Given the description of an element on the screen output the (x, y) to click on. 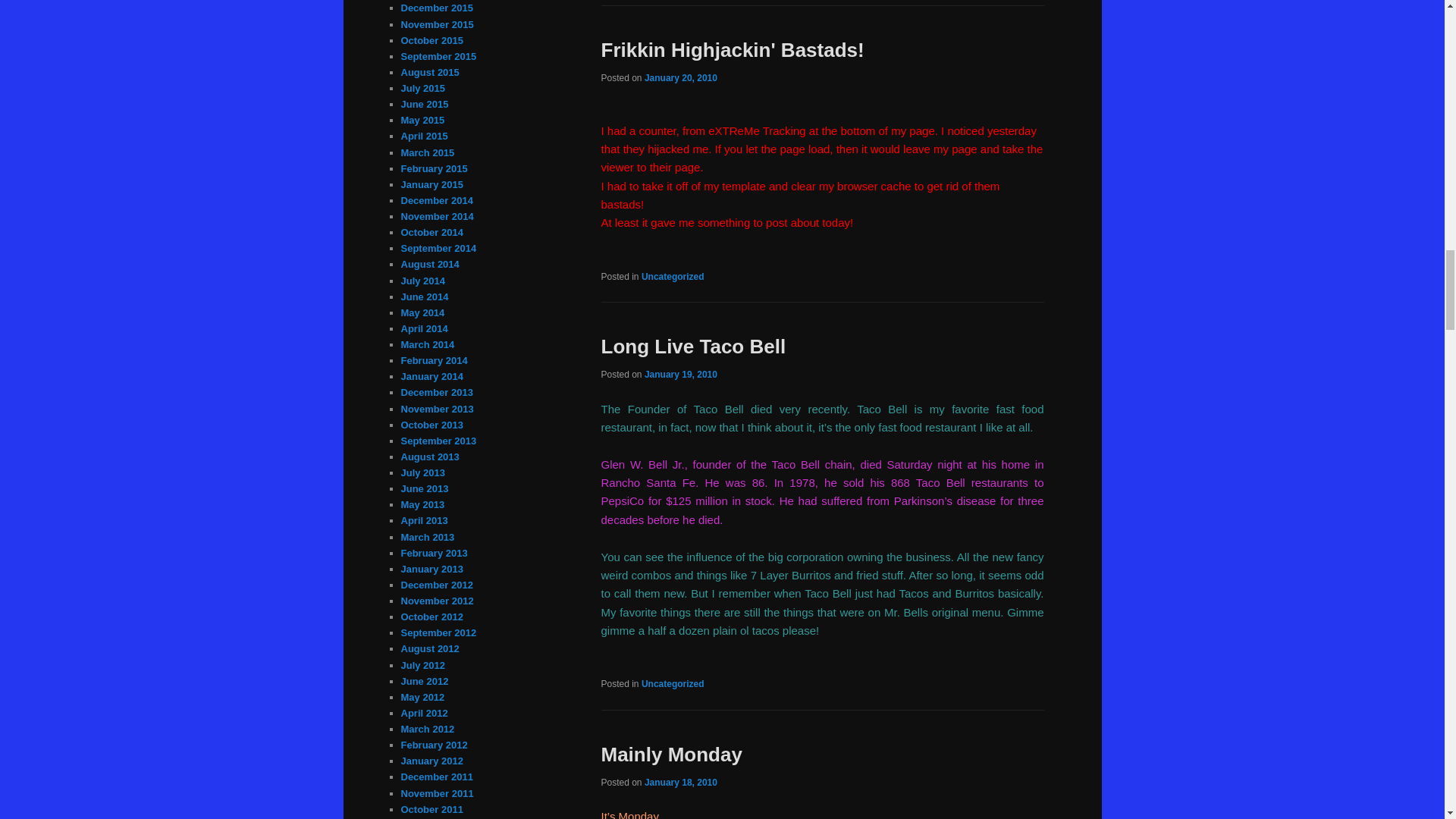
11:08 am (681, 77)
11:13 am (681, 374)
